Given the description of an element on the screen output the (x, y) to click on. 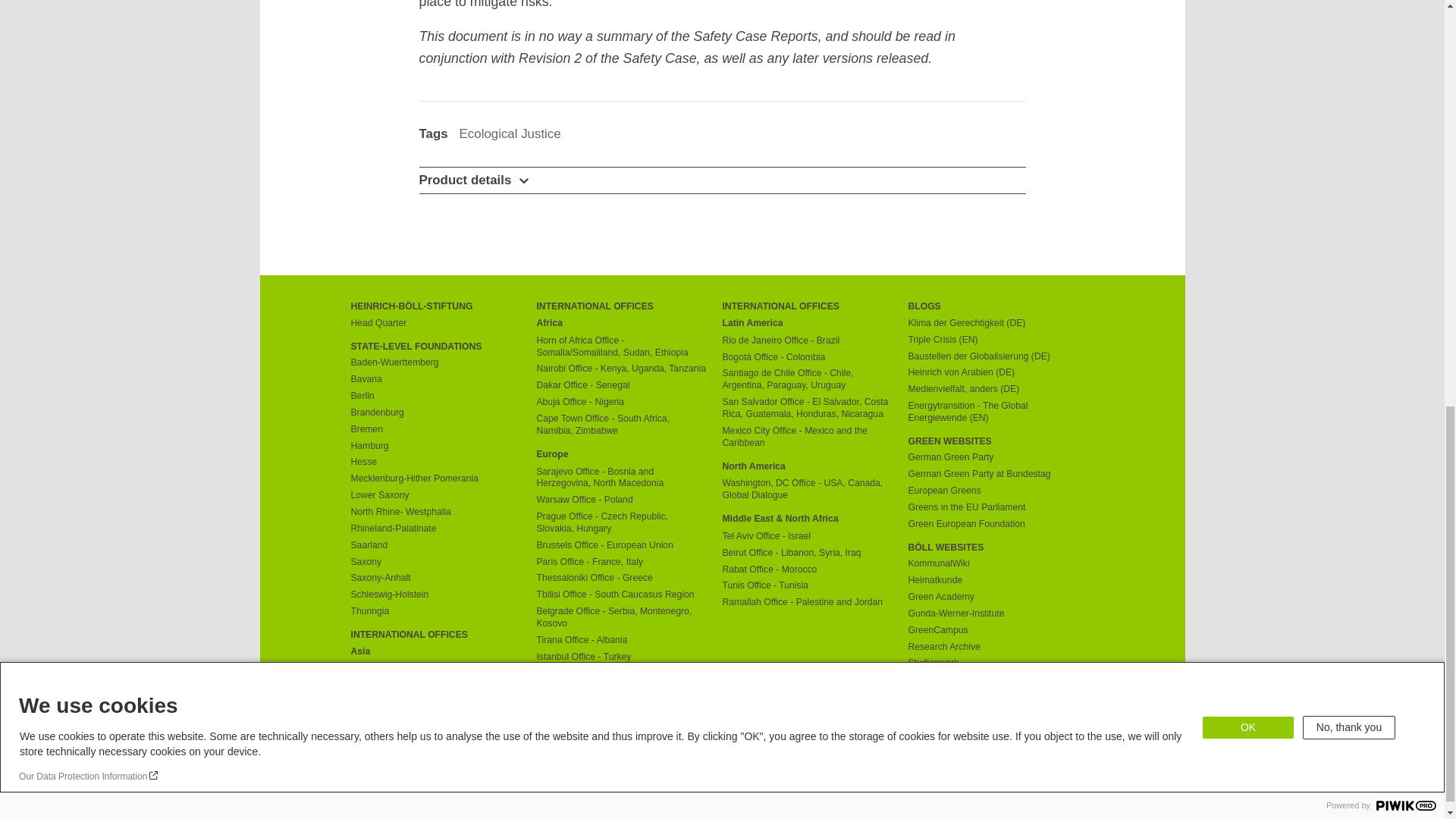
Bremen (435, 429)
Saarland (435, 545)
Ecological Justice (510, 133)
Saxony-Anhalt (435, 578)
Phnom Penh Office - Cambodia (435, 668)
Rhineland-Palatinate (435, 529)
Hamburg (435, 446)
Hesse (435, 462)
Brandenburg (435, 413)
Saxony (435, 562)
Thuringia (435, 612)
Berlin (435, 396)
Head Quarter (435, 323)
Schleswig-Holstein (435, 594)
Bavaria (435, 379)
